Given the description of an element on the screen output the (x, y) to click on. 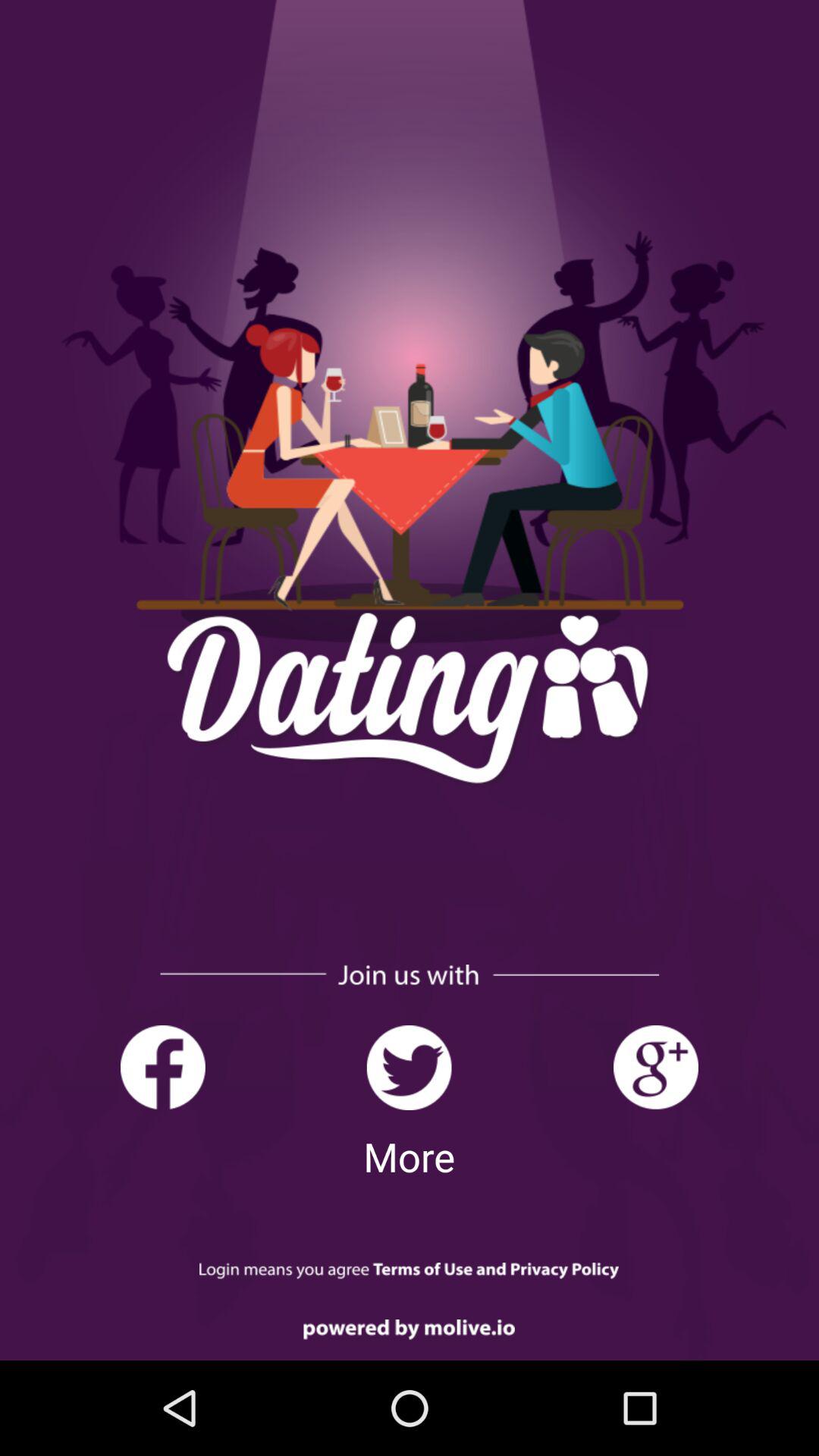
twitter (409, 1067)
